Given the description of an element on the screen output the (x, y) to click on. 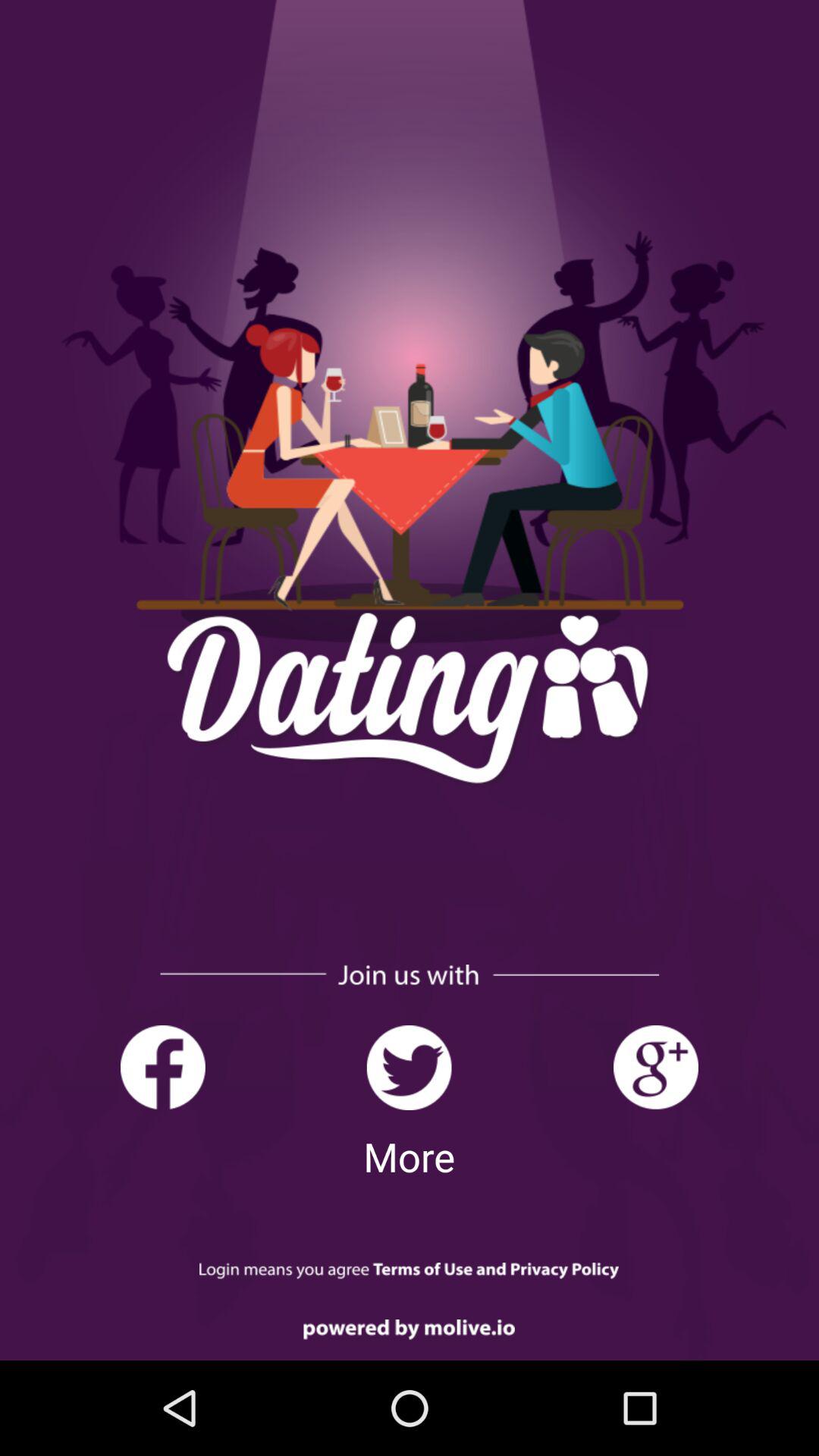
twitter (409, 1067)
